Given the description of an element on the screen output the (x, y) to click on. 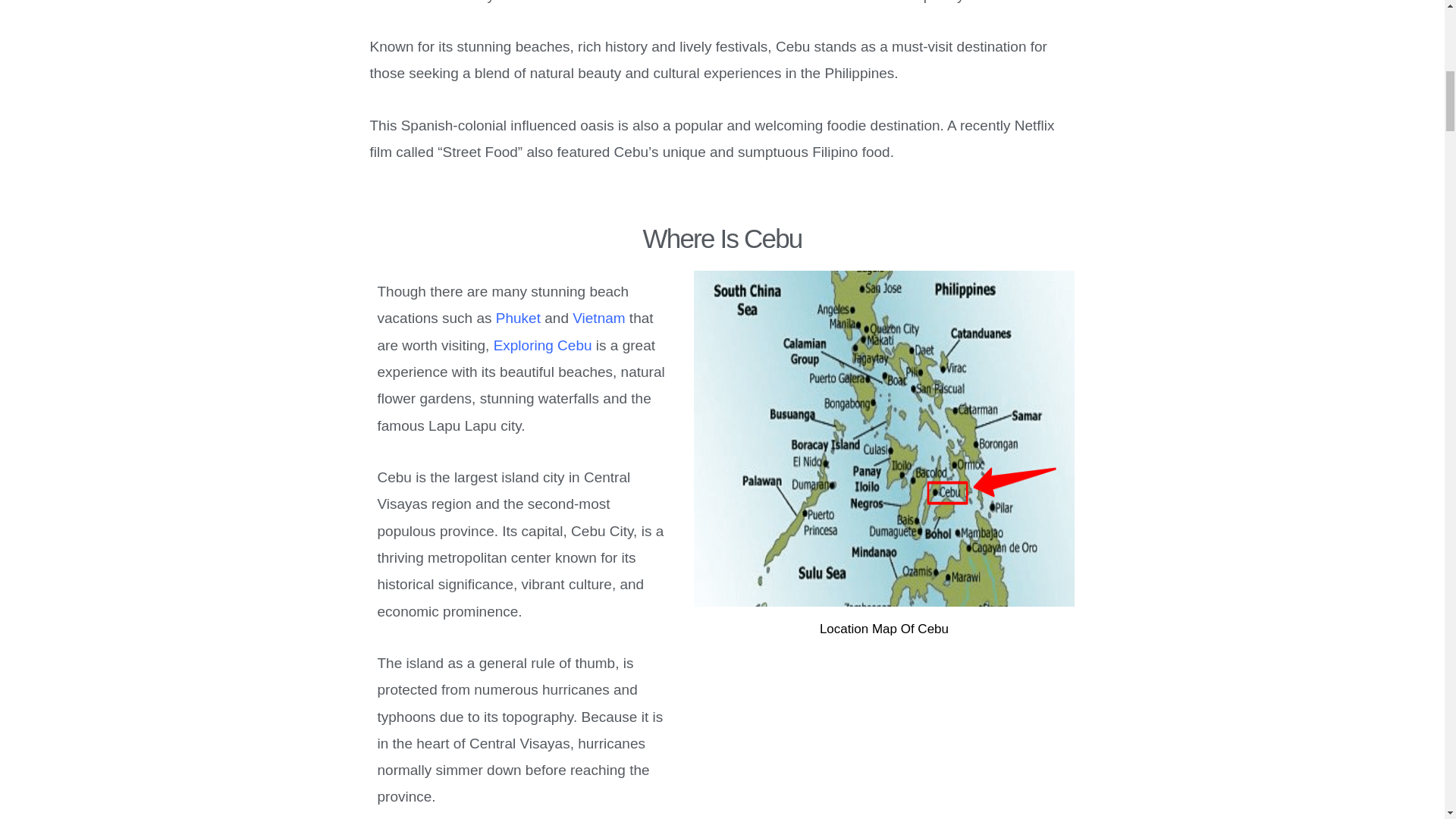
Exploring Cebu (544, 344)
Phuket (518, 317)
Vietnam (598, 317)
